Given the description of an element on the screen output the (x, y) to click on. 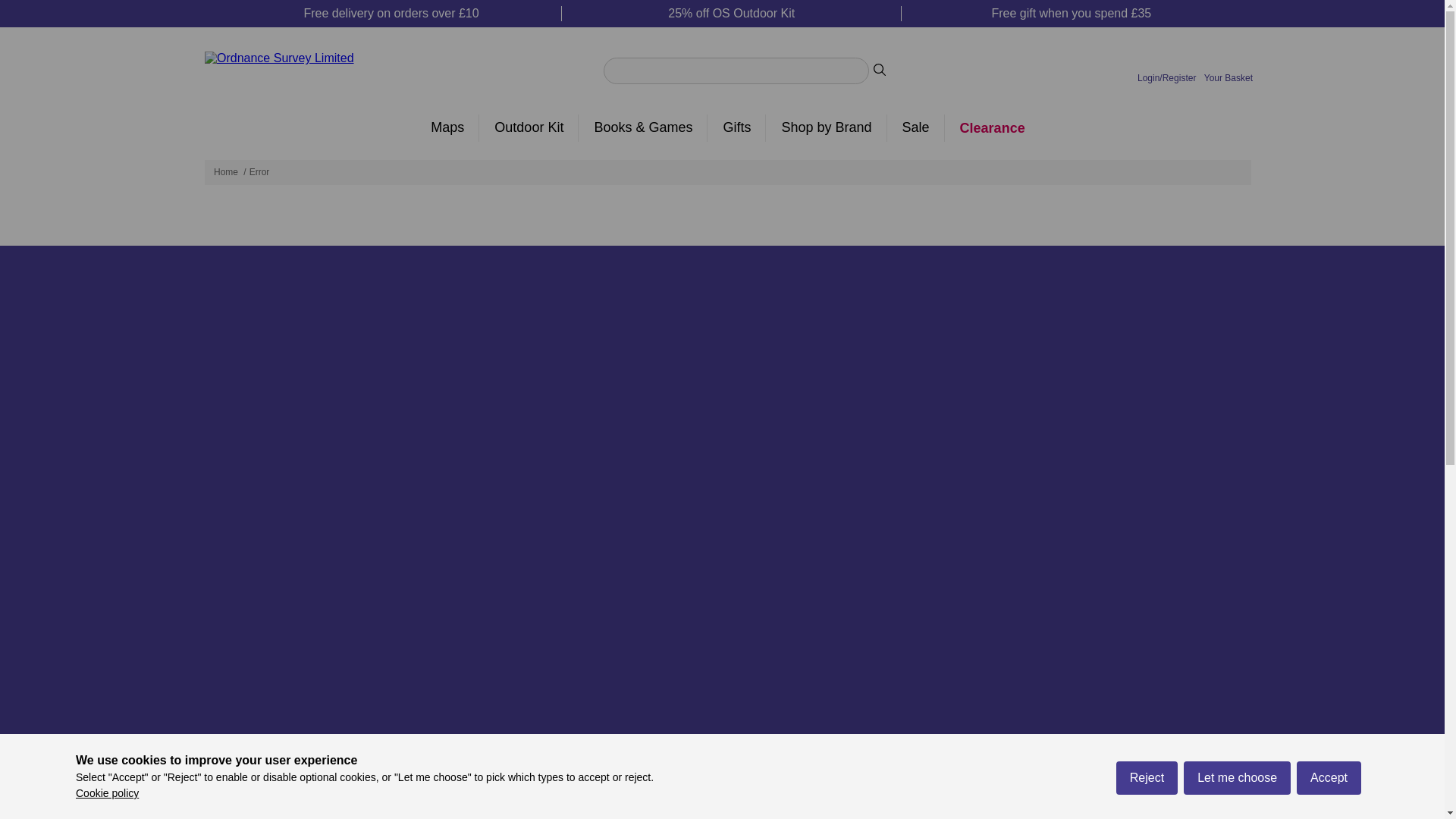
Maps (446, 127)
Your Basket (1228, 69)
Reject (1146, 794)
Let me choose (1236, 788)
Accept (1329, 802)
Submit the search query (879, 70)
